Given the description of an element on the screen output the (x, y) to click on. 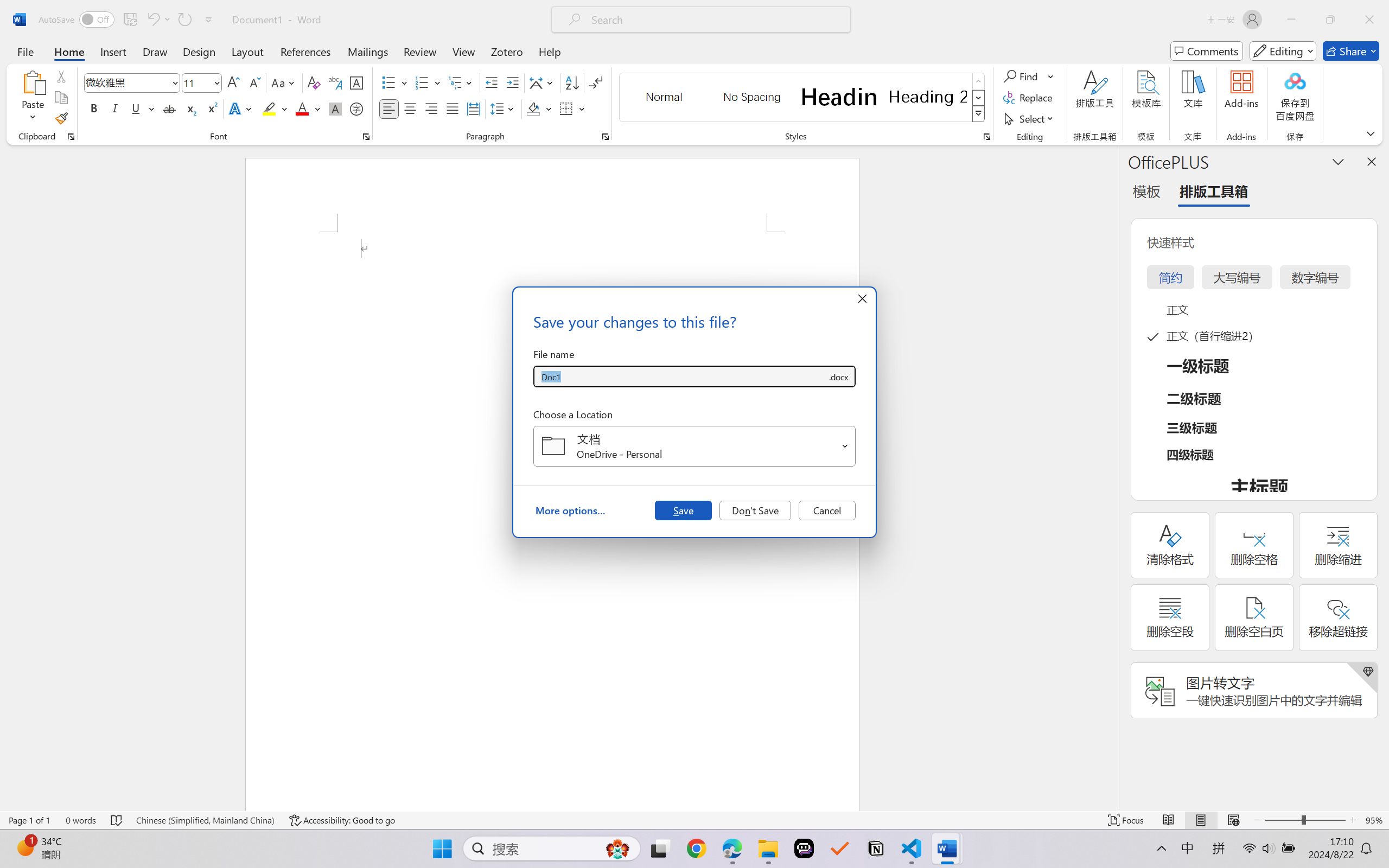
Undo <ApplyStyleToDoc>b__0 (152, 19)
